Given the description of an element on the screen output the (x, y) to click on. 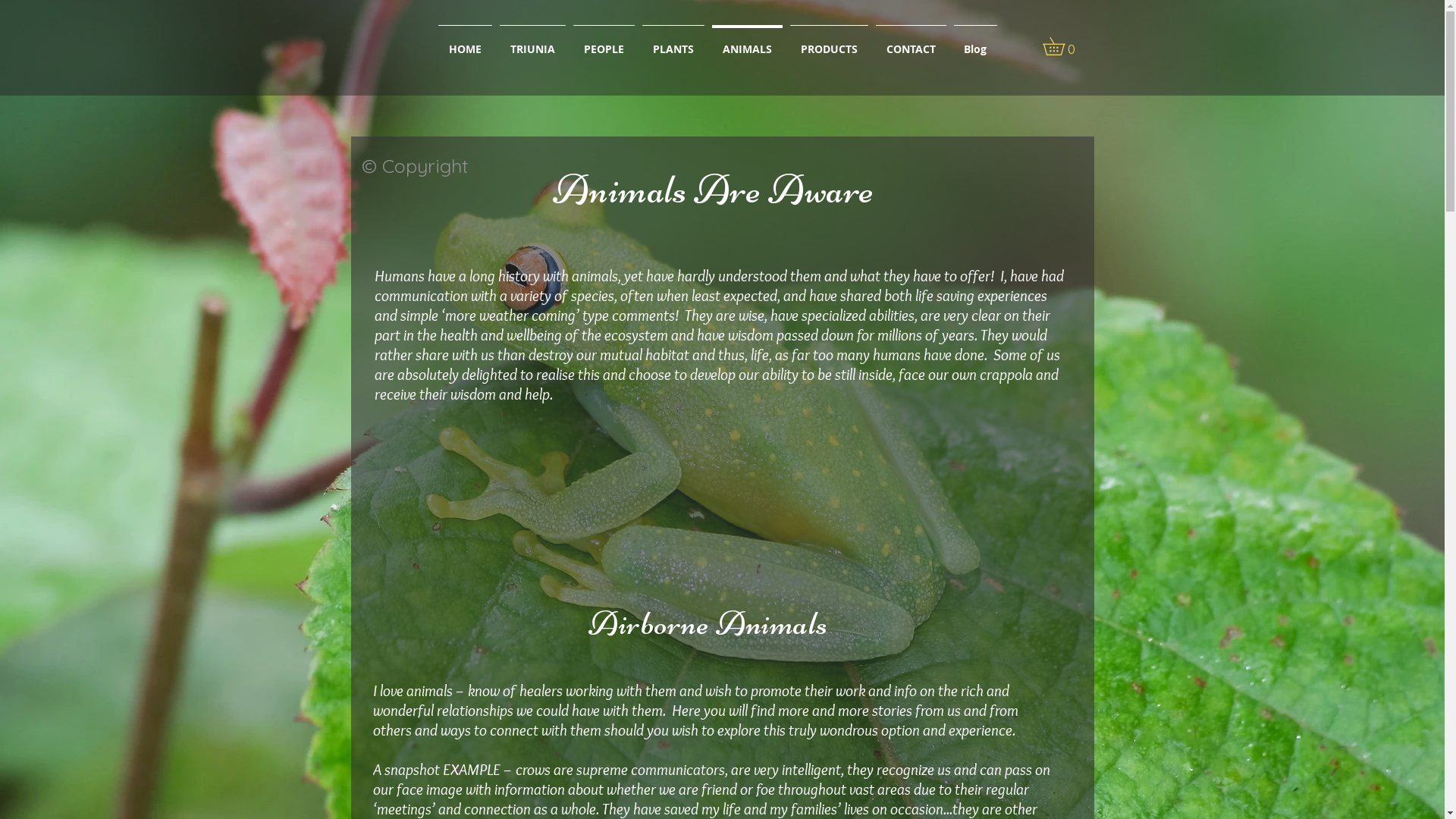
PLANTS Element type: text (673, 42)
0 Element type: text (1061, 46)
CONTACT Element type: text (911, 42)
PEOPLE Element type: text (602, 42)
ANIMALS Element type: text (747, 42)
HOME Element type: text (464, 42)
PRODUCTS Element type: text (828, 42)
TRIUNIA Element type: text (532, 42)
Blog Element type: text (974, 42)
